Given the description of an element on the screen output the (x, y) to click on. 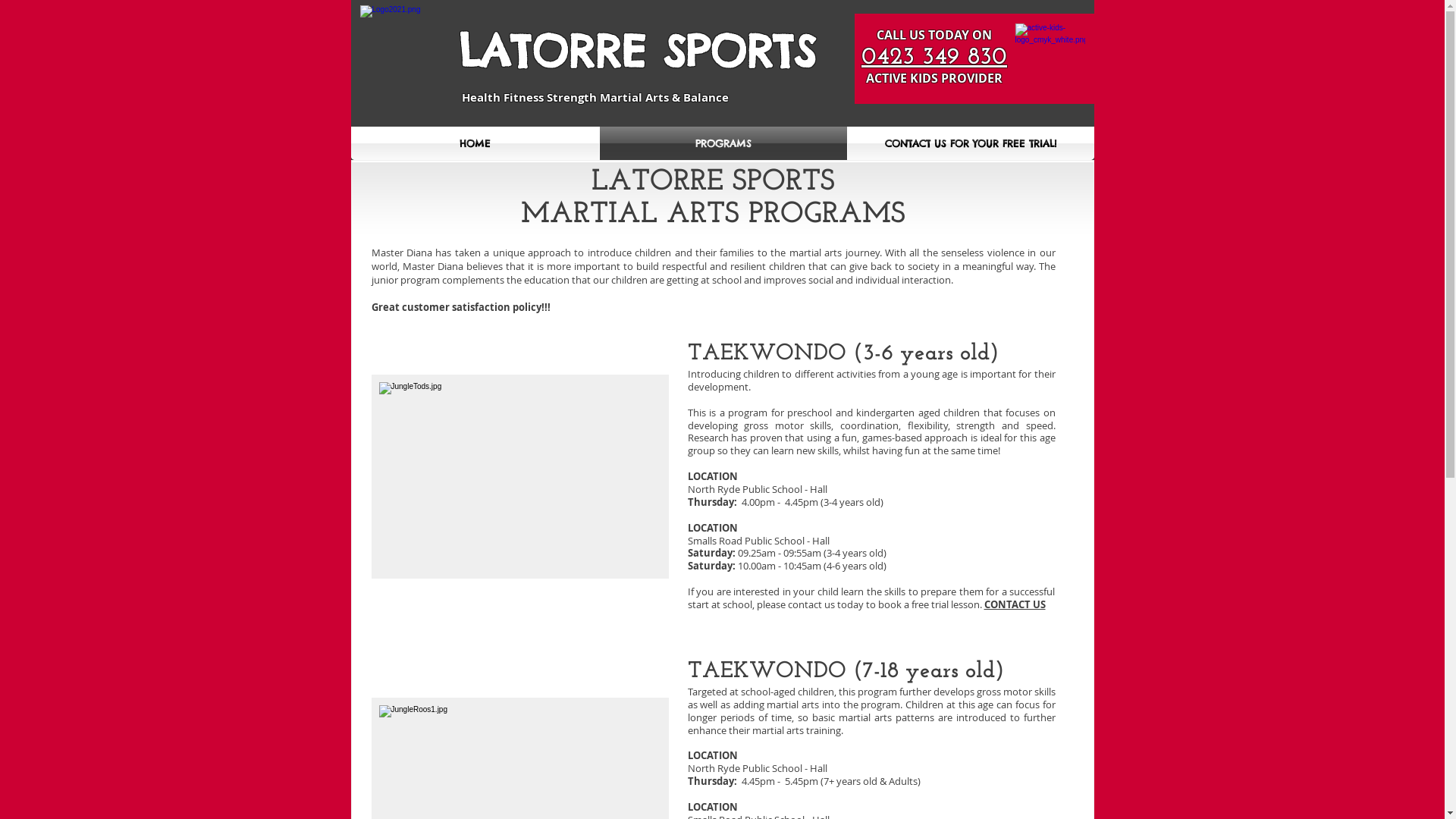
PROGRAMS Element type: text (722, 143)
CONTACT US FOR YOUR FREE TRIAL! Element type: text (970, 143)
0423 349 830 Element type: text (934, 56)
LATORRE SPORTS Element type: text (636, 55)
HOME Element type: text (474, 143)
CONTACT US Element type: text (1014, 604)
